Given the description of an element on the screen output the (x, y) to click on. 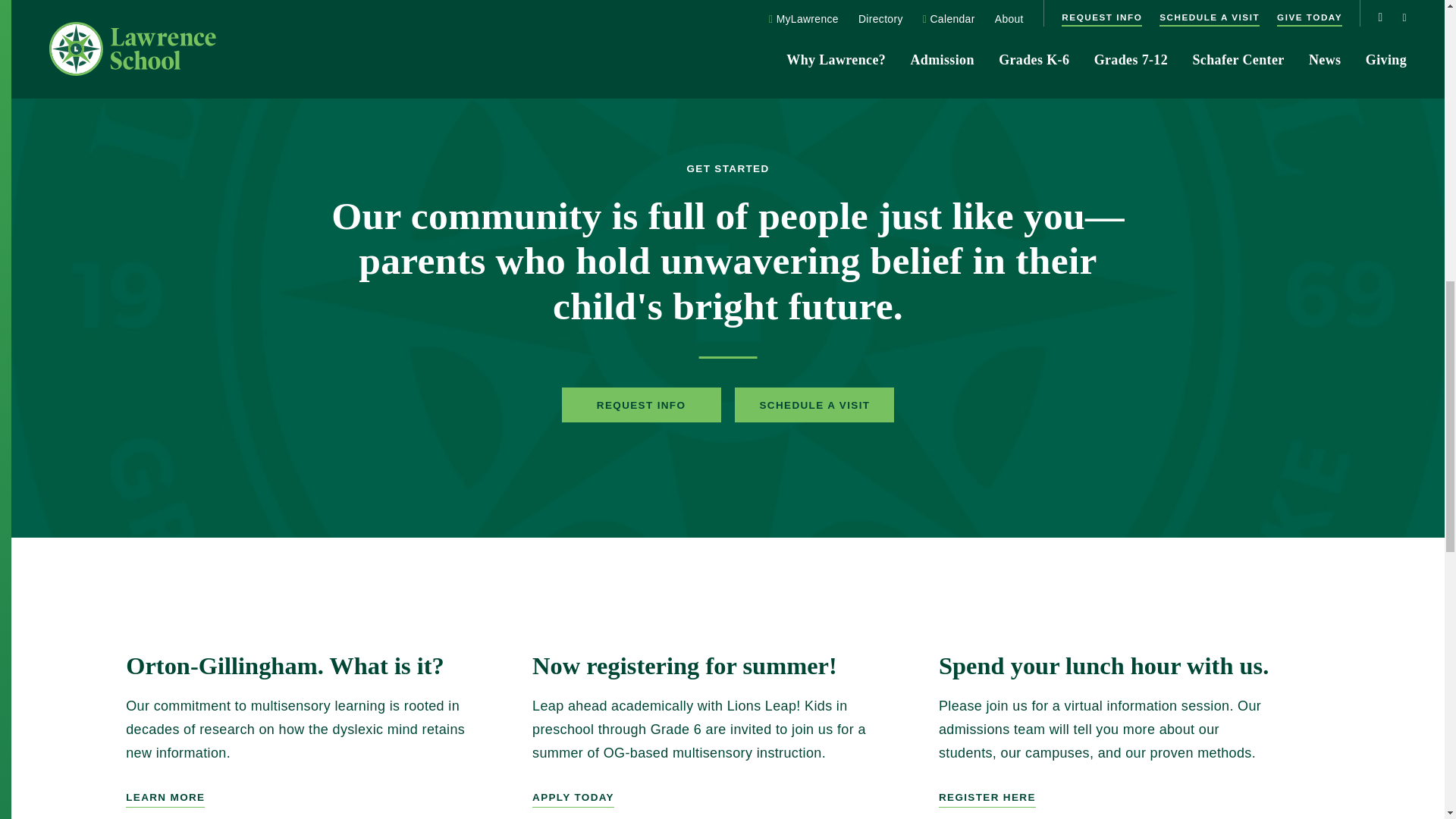
Orton-Gillingham. What is it? (320, 729)
Now registering for summer! (727, 729)
